Given the description of an element on the screen output the (x, y) to click on. 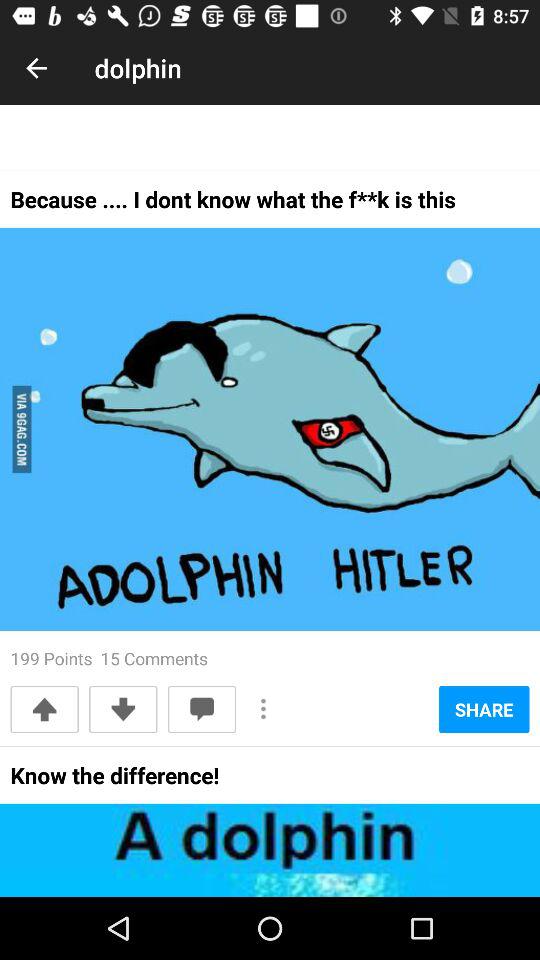
click the because i dont (233, 205)
